Given the description of an element on the screen output the (x, y) to click on. 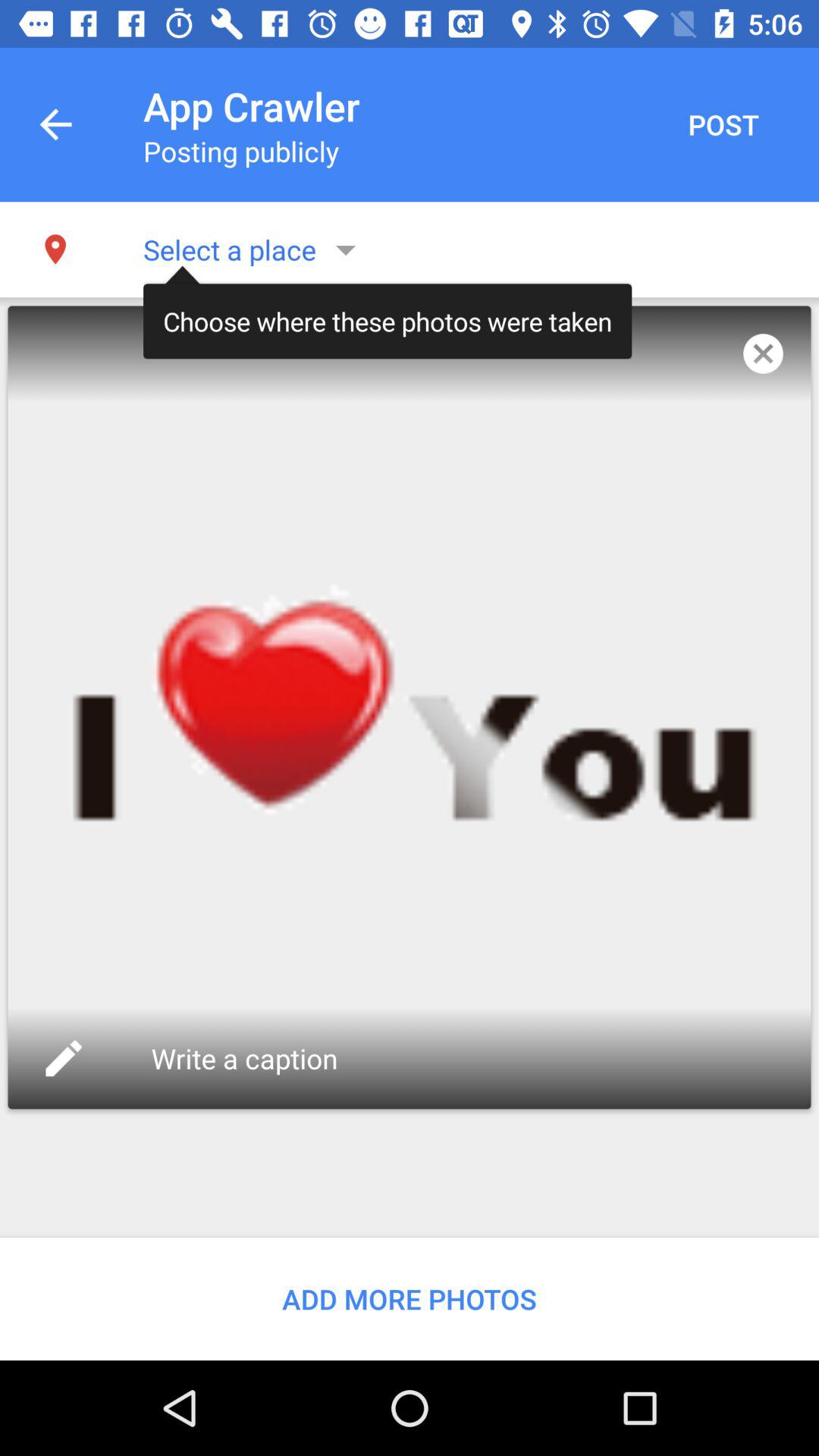
click add more photos app (409, 1298)
